Given the description of an element on the screen output the (x, y) to click on. 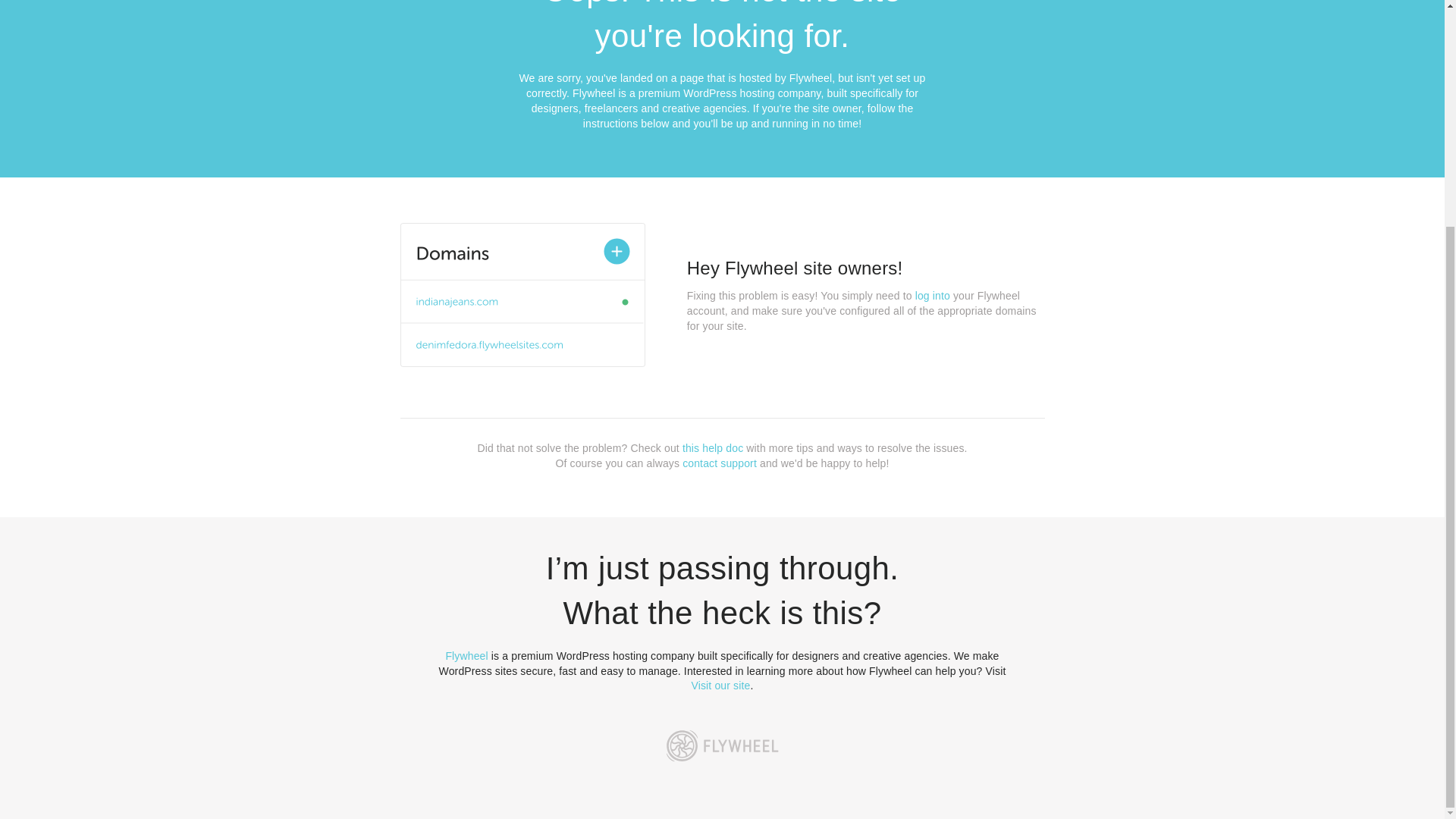
log into (932, 295)
Flywheel (466, 655)
this help doc (712, 448)
contact support (719, 463)
Visit our site (721, 685)
